Given the description of an element on the screen output the (x, y) to click on. 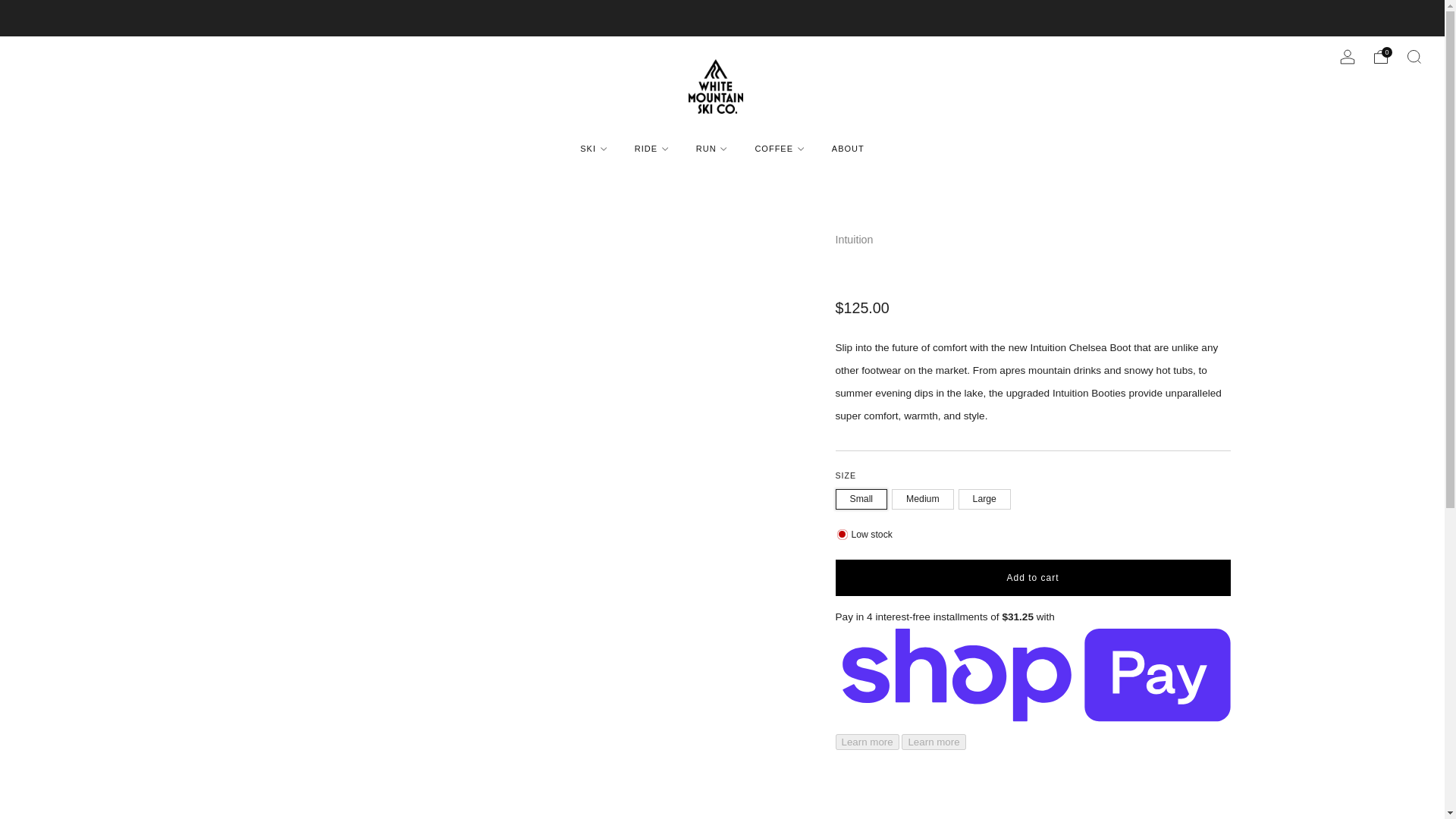
Small (863, 495)
Large (986, 495)
SKI (593, 148)
Medium (924, 495)
Intuition (854, 239)
